Given the description of an element on the screen output the (x, y) to click on. 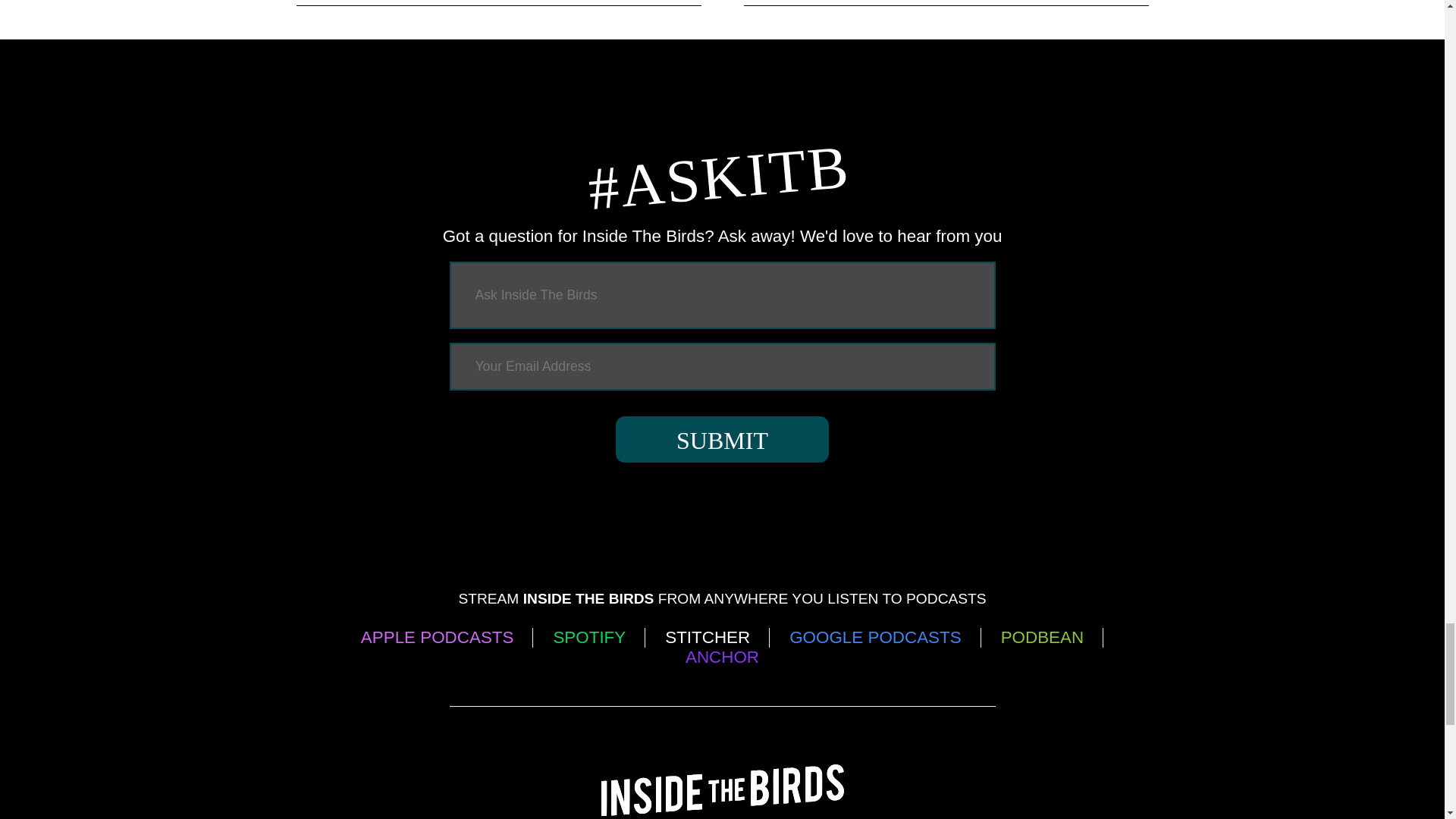
Submit (721, 439)
